Given the description of an element on the screen output the (x, y) to click on. 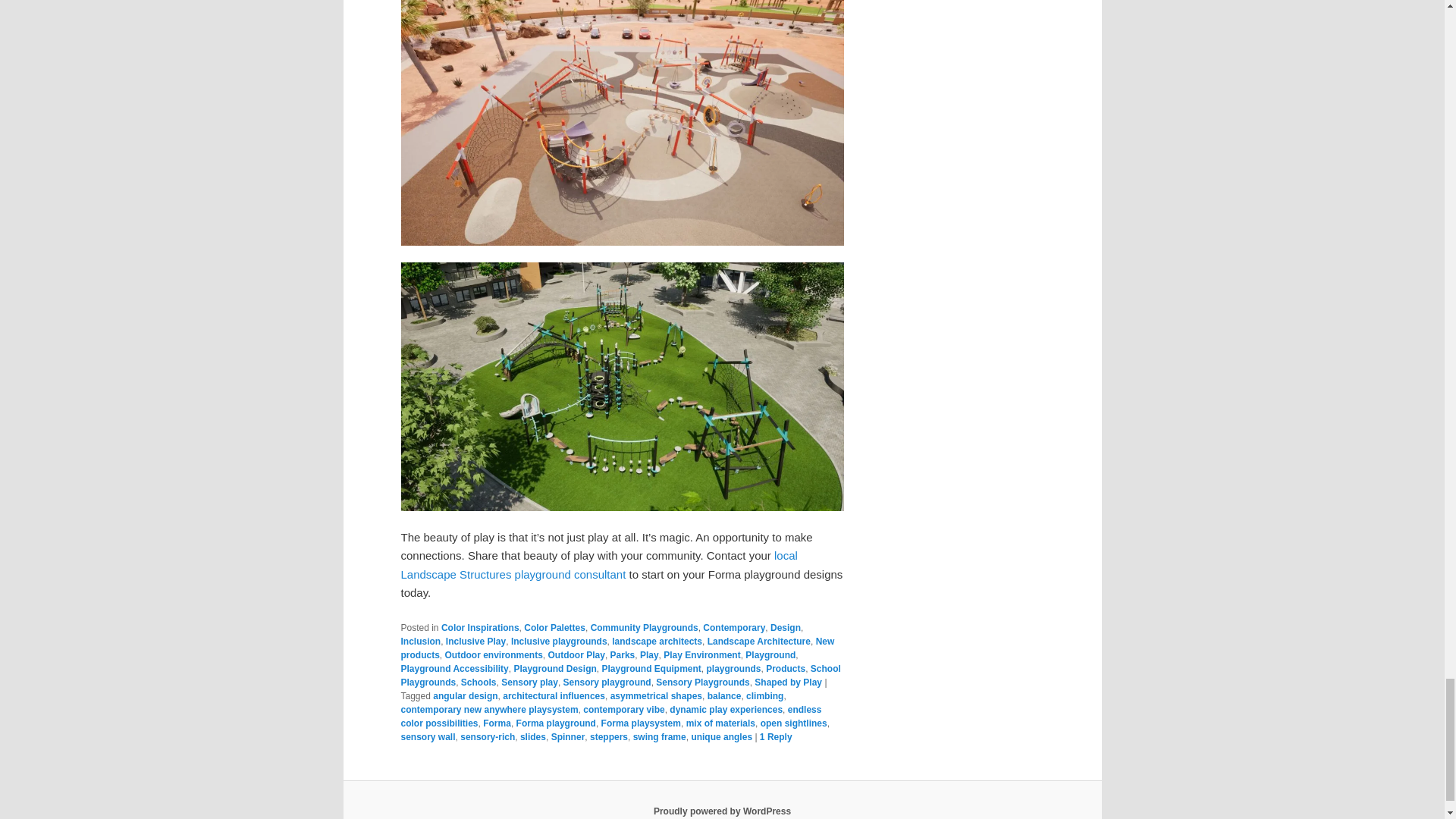
Inclusion (420, 641)
local Landscape Structures playground consultant (598, 563)
Color Inspirations (480, 627)
landscape architects (656, 641)
Inclusive Play (475, 641)
Community Playgrounds (644, 627)
Landscape Architecture (758, 641)
Inclusive playgrounds (559, 641)
Design (785, 627)
Contemporary (734, 627)
Color Palettes (554, 627)
Semantic Personal Publishing Platform (721, 810)
